Given the description of an element on the screen output the (x, y) to click on. 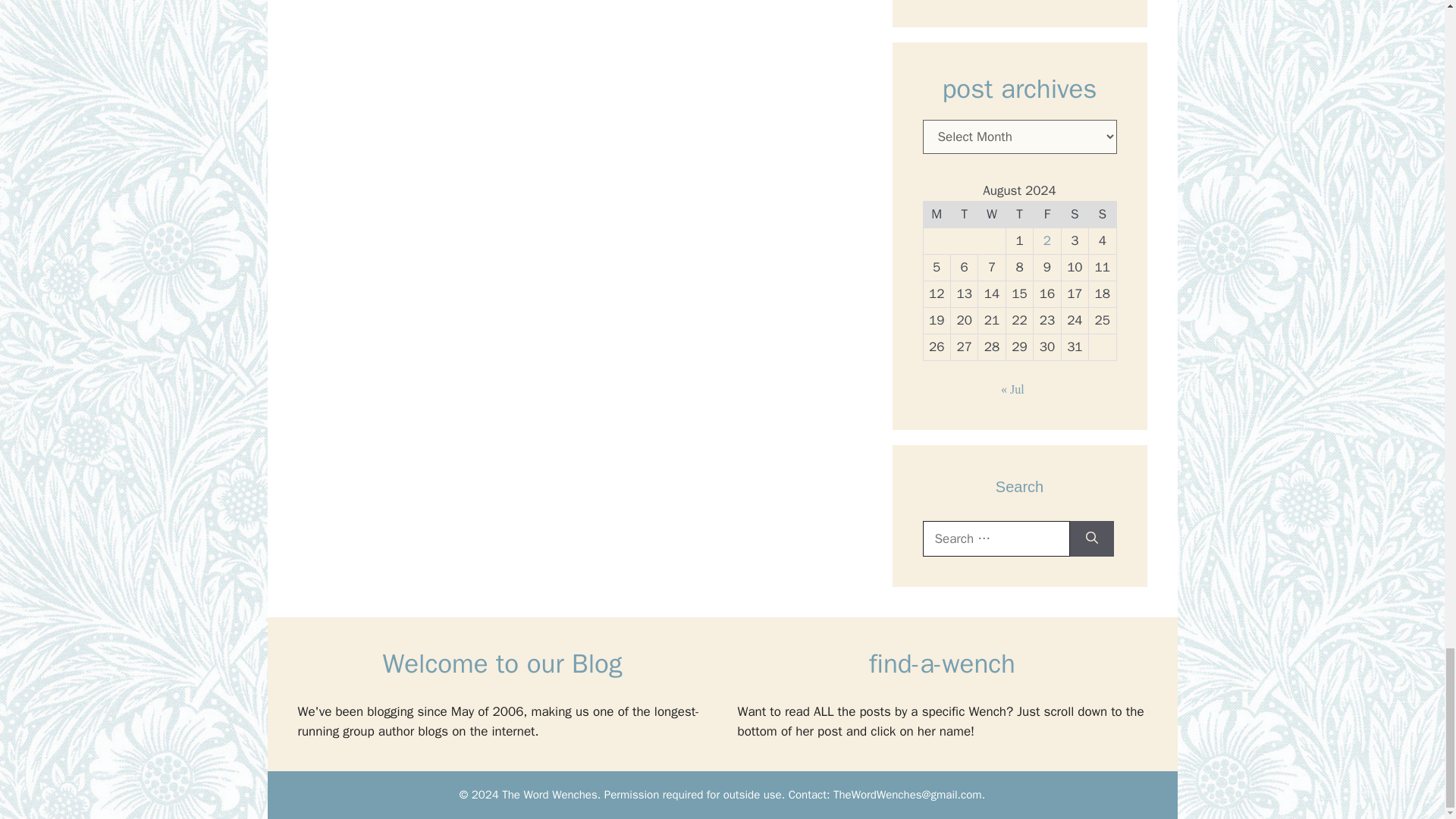
Saturday (1074, 213)
Thursday (1019, 213)
Monday (936, 213)
Tuesday (963, 213)
Sunday (1102, 213)
Wednesday (992, 213)
Friday (1047, 213)
Search for: (994, 538)
